Given the description of an element on the screen output the (x, y) to click on. 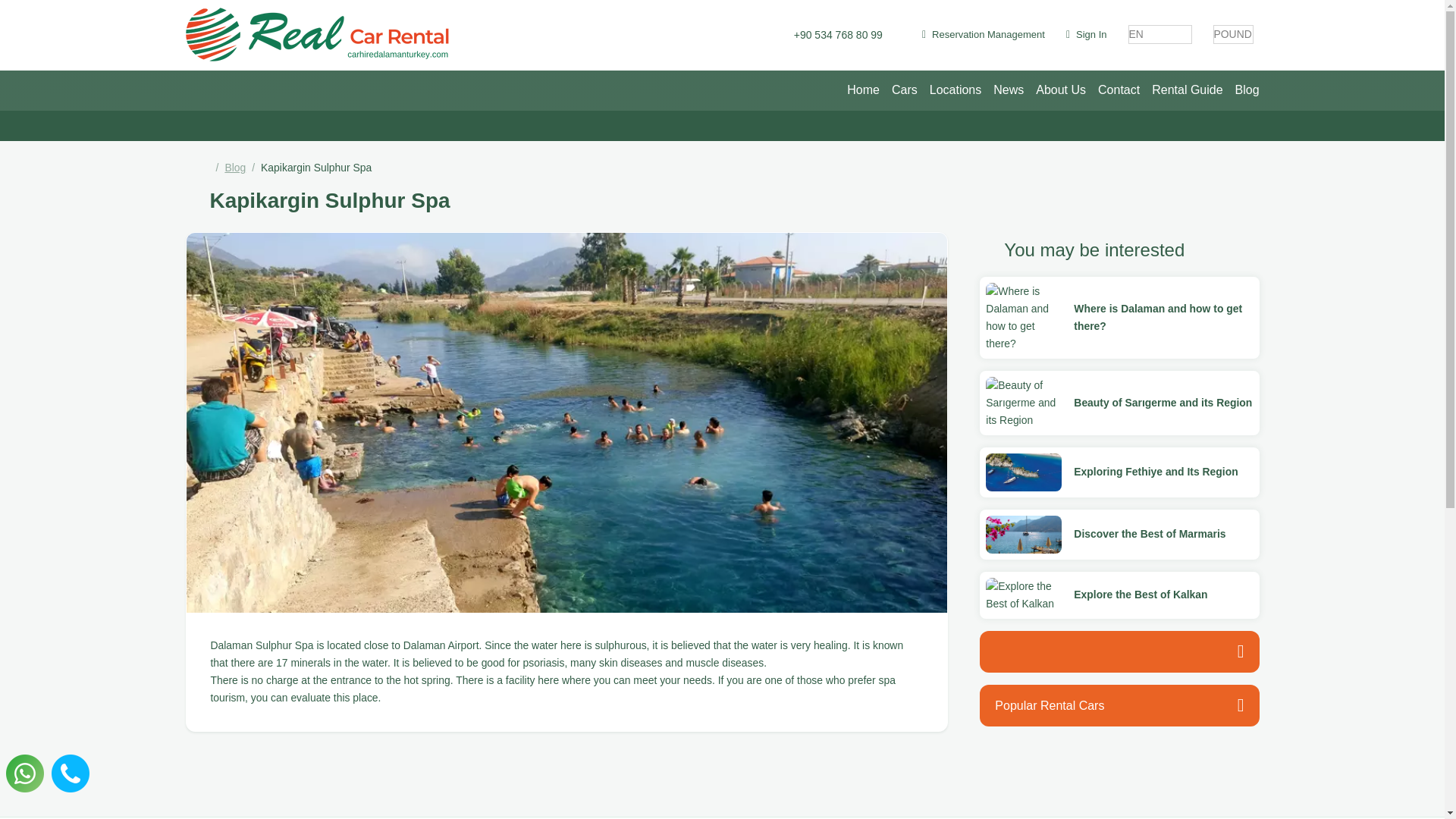
Where is Dalaman and how to get there? (1163, 326)
Sign In (1085, 34)
About Us (1060, 89)
Locations (955, 89)
About Us (1060, 89)
News (1008, 89)
Locations (955, 89)
Home (863, 89)
Cars (904, 89)
Contact (1118, 89)
Rental Guide (1186, 89)
Popular Rental Cars (1119, 705)
Rental Guide (1186, 89)
Exploring Fethiye and Its Region (1155, 471)
